Given the description of an element on the screen output the (x, y) to click on. 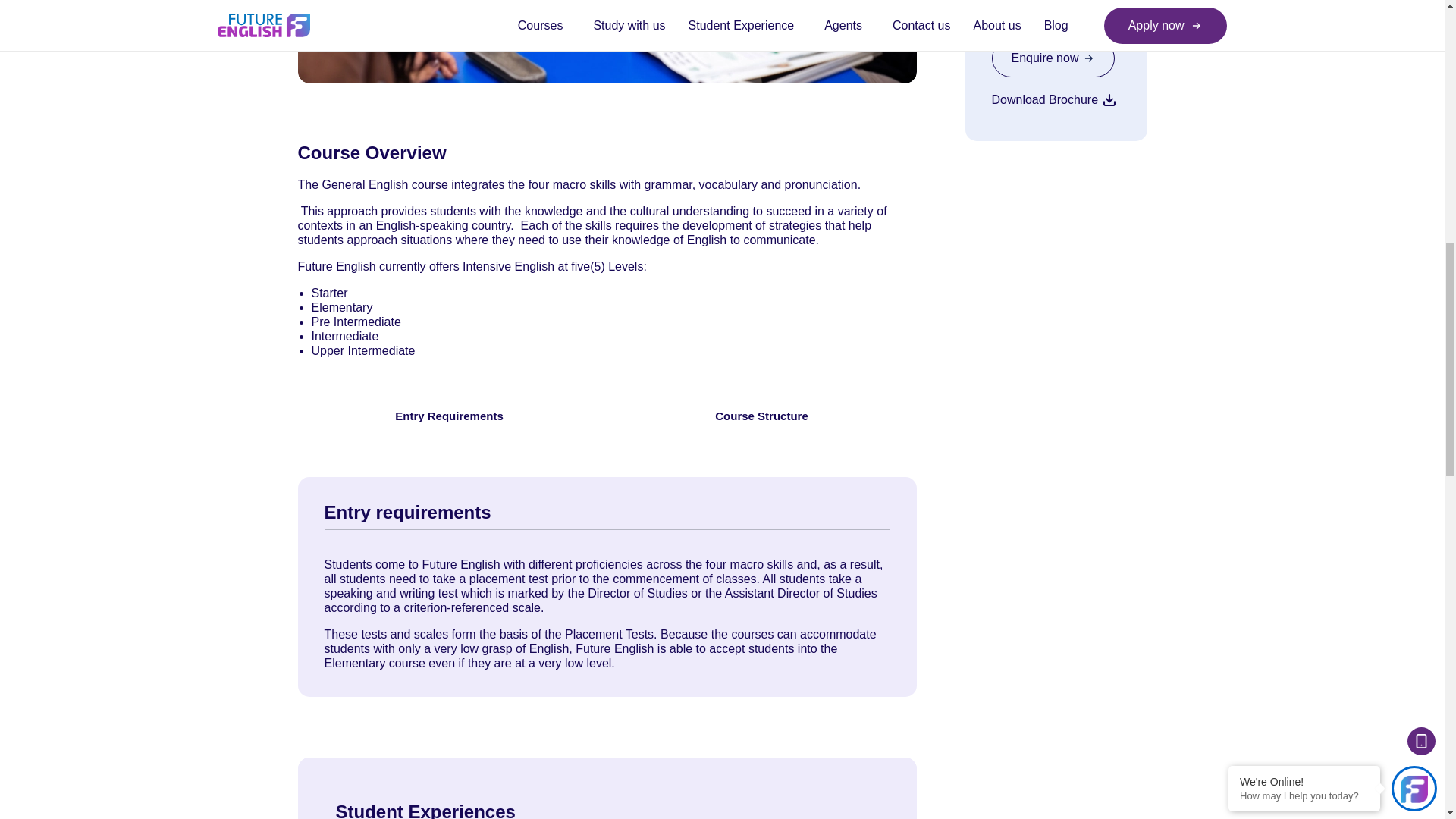
Enquire now (1053, 57)
Apply now (1054, 12)
Download Brochure (1053, 99)
